Given the description of an element on the screen output the (x, y) to click on. 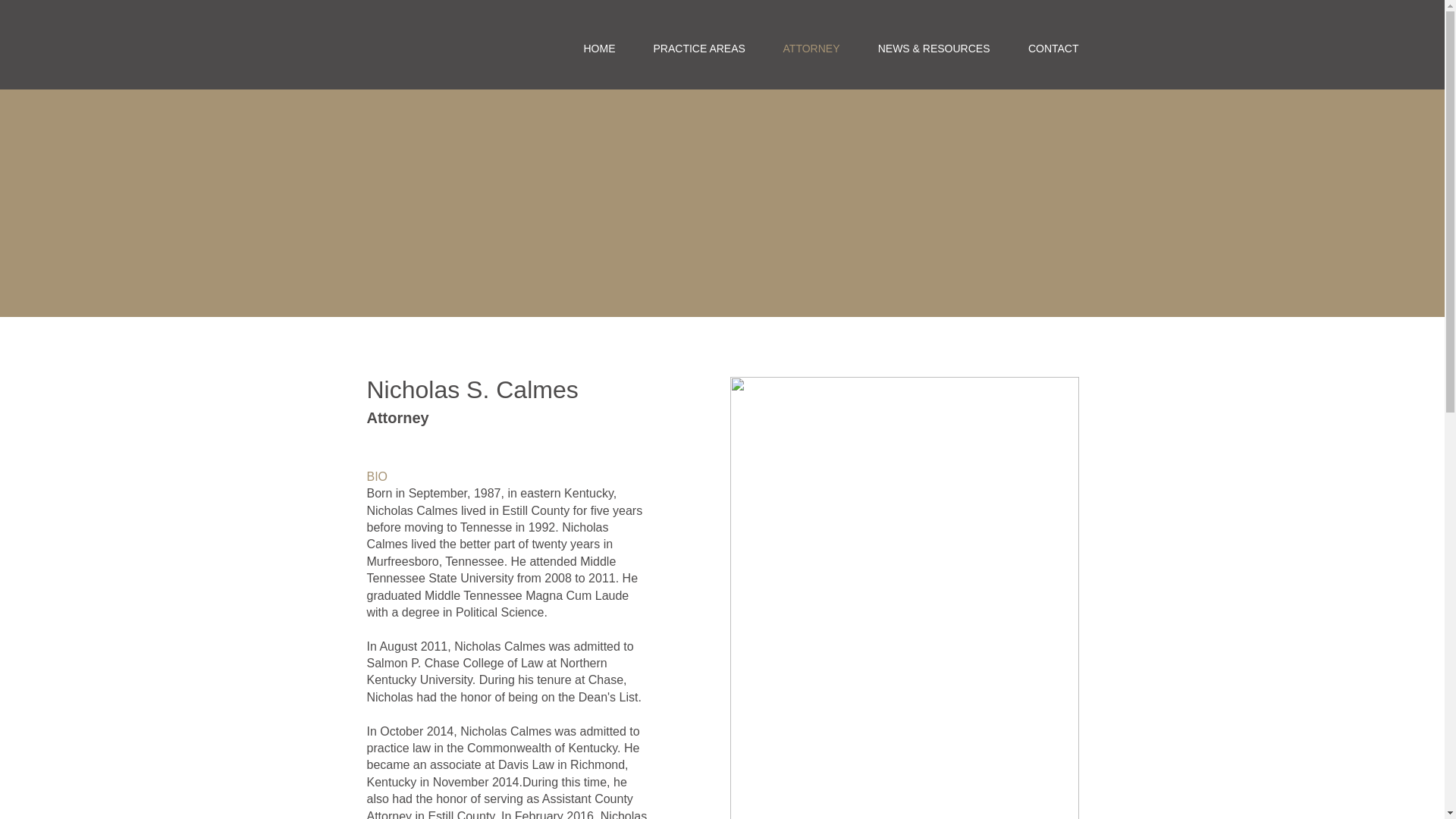
PRACTICE AREAS (697, 48)
CONTACT (1053, 48)
HOME (598, 48)
ATTORNEY (811, 48)
